Given the description of an element on the screen output the (x, y) to click on. 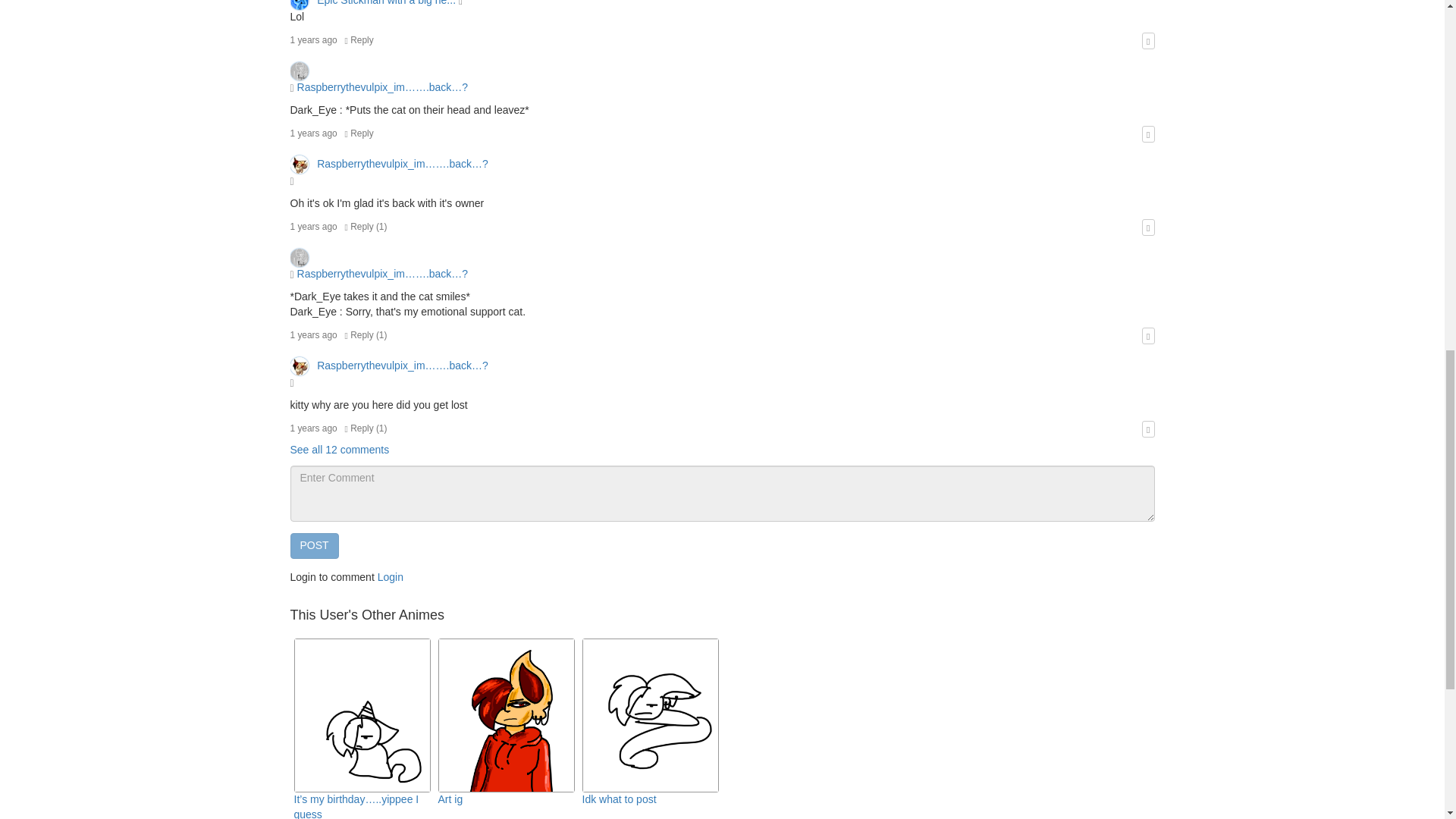
POST (313, 545)
Login (390, 576)
See all 12 comments (338, 449)
  Epic Stickman with a big he... (373, 2)
Reply (359, 40)
POST (313, 545)
Reply (359, 132)
